Given the description of an element on the screen output the (x, y) to click on. 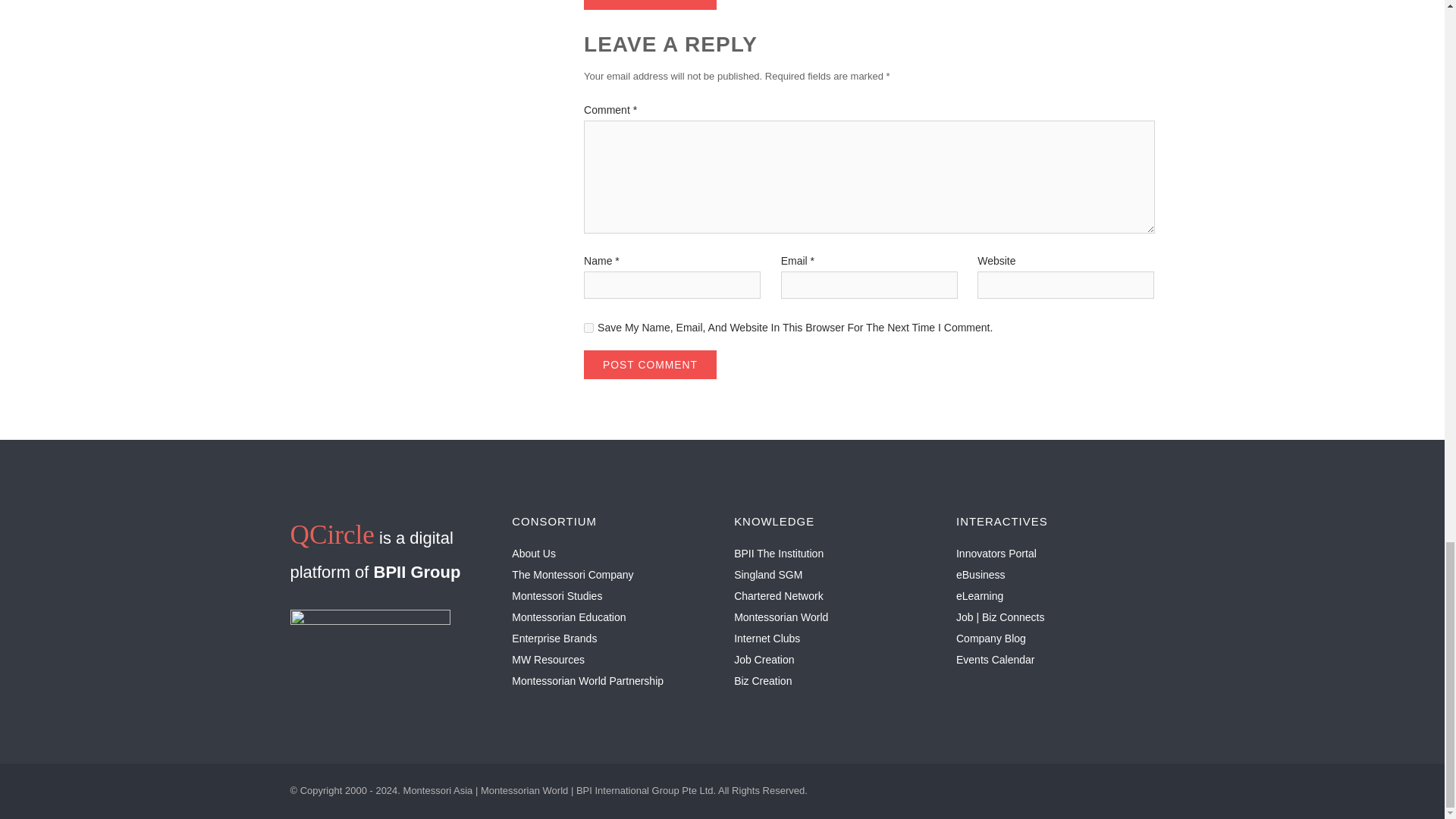
Post Comment (649, 364)
yes (588, 327)
Post Comment (649, 4)
